Given the description of an element on the screen output the (x, y) to click on. 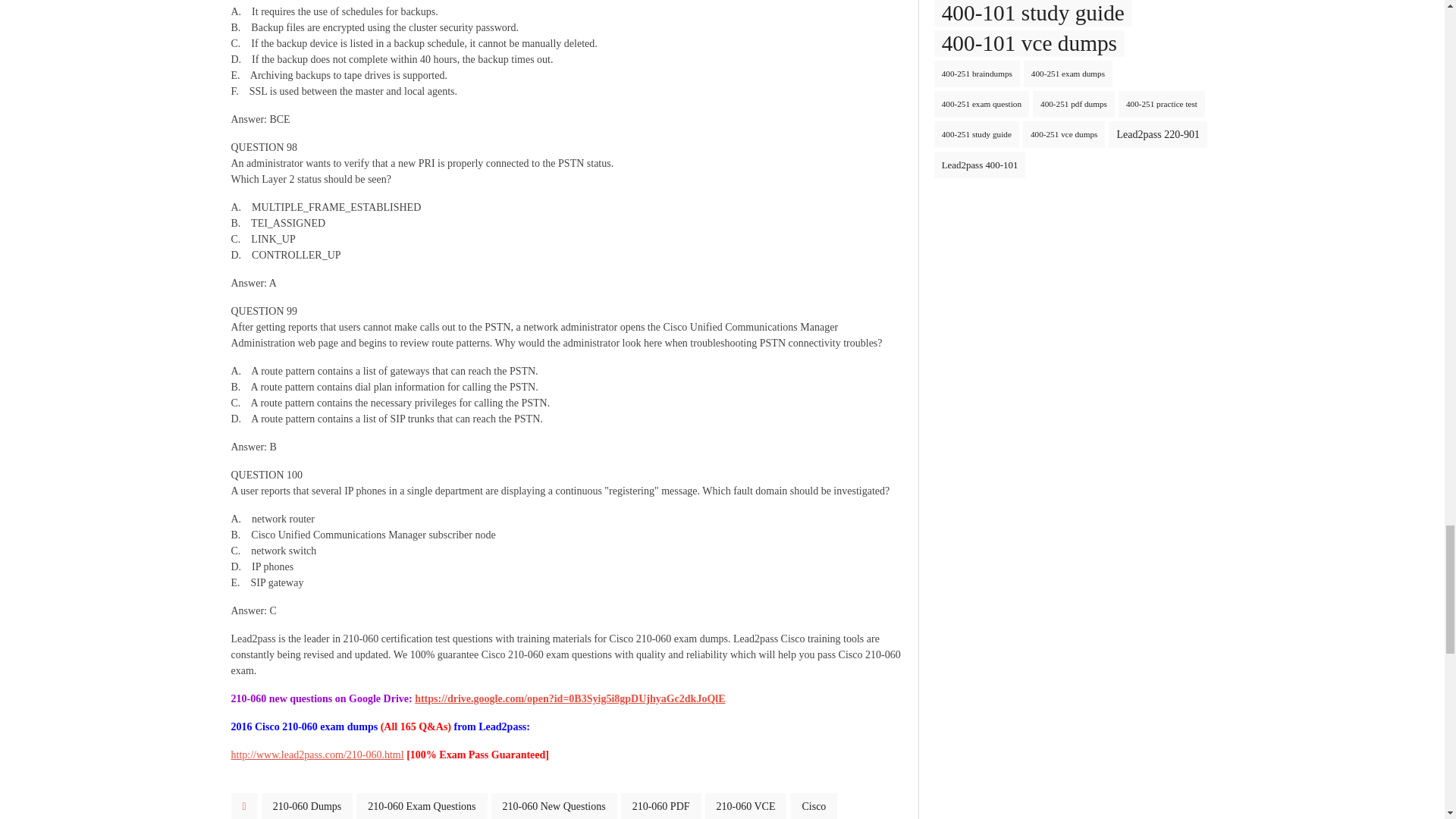
210-060 PDF (661, 806)
210-060 New Questions (554, 806)
210-060 Dumps (307, 806)
210-060 VCE (745, 806)
210-060 Exam Questions (421, 806)
Cisco (813, 806)
